Given the description of an element on the screen output the (x, y) to click on. 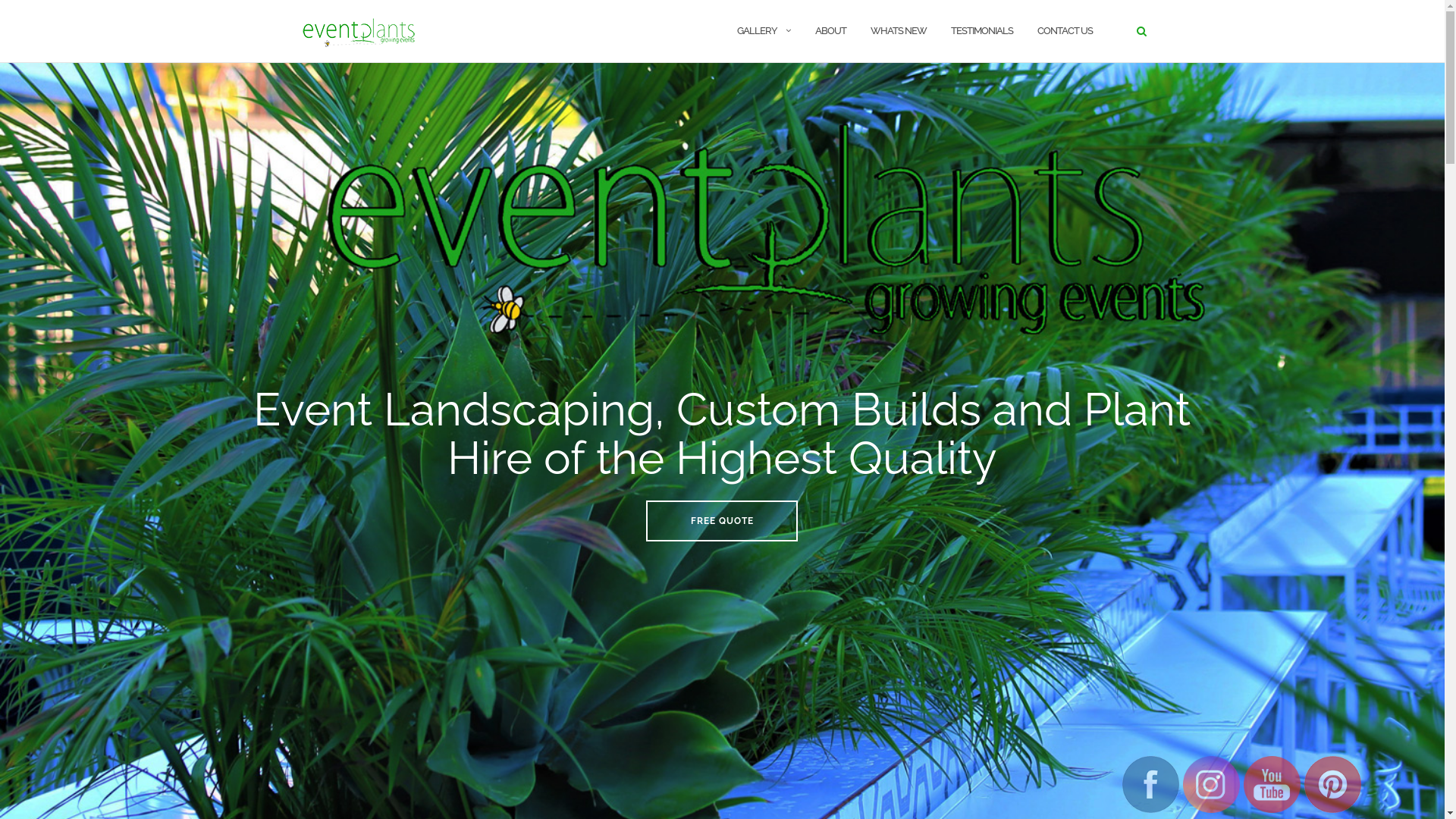
CONTACT US Element type: text (1064, 31)
WHATS NEW Element type: text (898, 31)
FREE QUOTE Element type: text (721, 520)
ABOUT Element type: text (829, 31)
GALLERY Element type: text (757, 31)
Instagram Element type: hover (1211, 784)
TESTIMONIALS Element type: text (981, 31)
Pinterest Element type: hover (1332, 784)
YouTube Element type: hover (1271, 784)
Facebook Element type: hover (1150, 784)
